Given the description of an element on the screen output the (x, y) to click on. 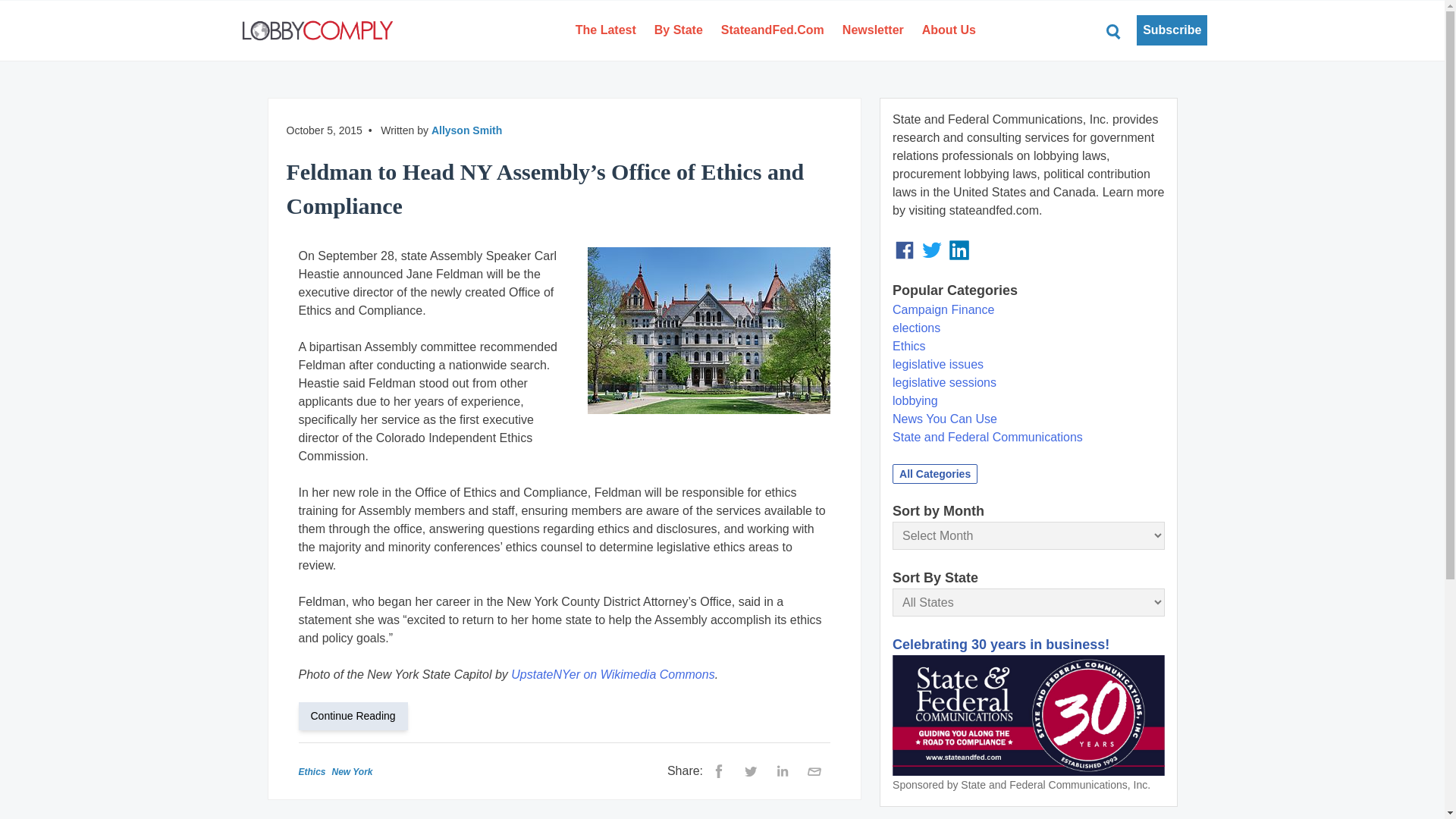
The Latest (605, 29)
elections (916, 327)
UpstateNYer on Wikimedia Commons (612, 674)
Allyson Smith (466, 130)
Campaign Finance (943, 309)
Ethics (312, 771)
Subscribe (1172, 30)
Ethics (909, 345)
New York (351, 771)
Continue Reading (359, 715)
